Given the description of an element on the screen output the (x, y) to click on. 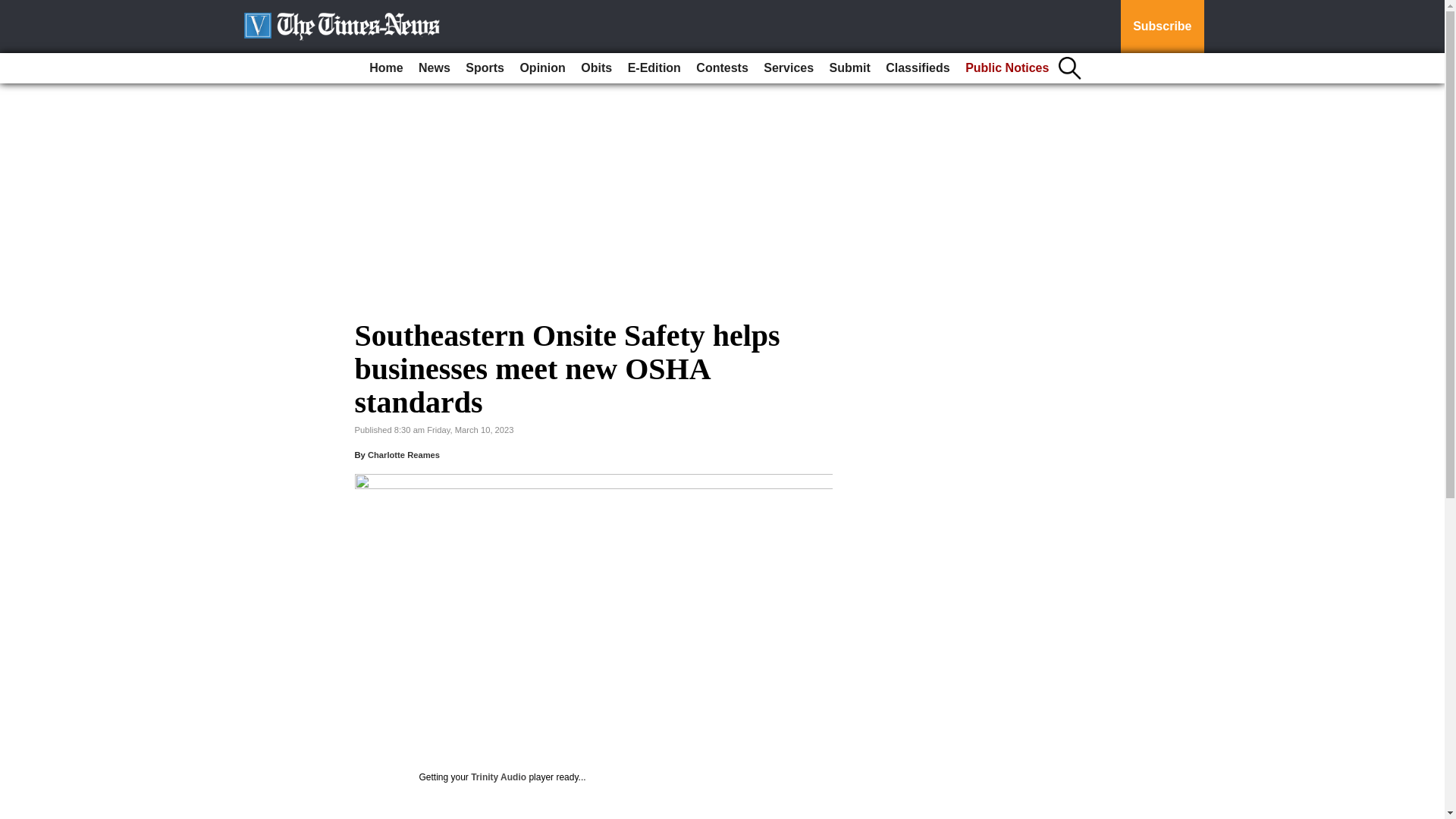
Charlotte Reames (403, 454)
Go (13, 9)
Services (788, 68)
Subscribe (1162, 26)
Public Notices (1006, 68)
Home (385, 68)
Obits (596, 68)
News (434, 68)
Opinion (541, 68)
Contests (722, 68)
Sports (485, 68)
E-Edition (654, 68)
Submit (850, 68)
Trinity Audio (497, 777)
Classifieds (917, 68)
